Given the description of an element on the screen output the (x, y) to click on. 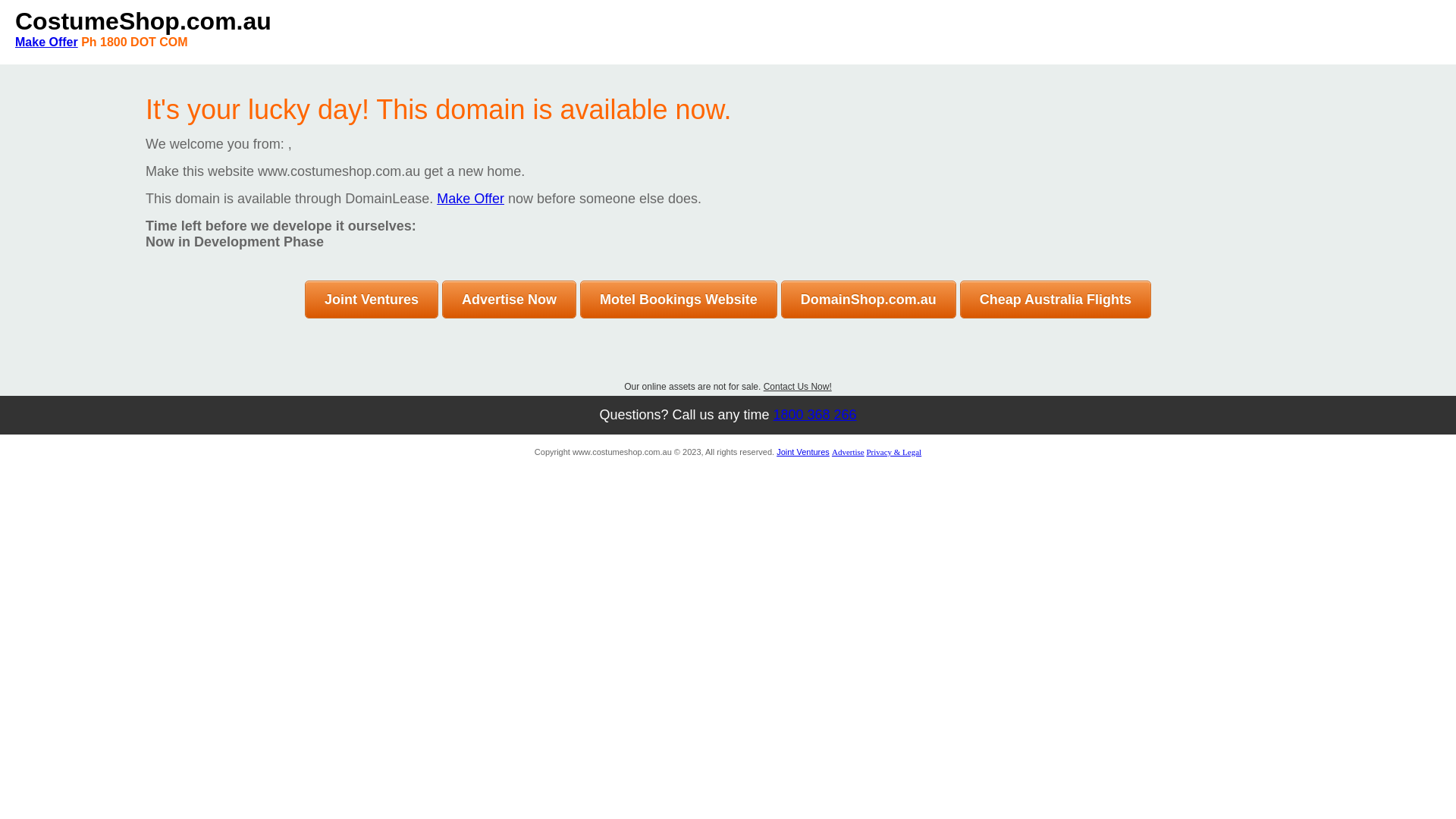
Make Offer Element type: text (470, 198)
Make Offer Element type: text (46, 41)
Privacy & Legal Element type: text (893, 451)
Joint Ventures Element type: text (802, 451)
Advertise Element type: text (847, 451)
1800 368 266 Element type: text (814, 414)
Contact Us Now! Element type: text (797, 386)
